Given the description of an element on the screen output the (x, y) to click on. 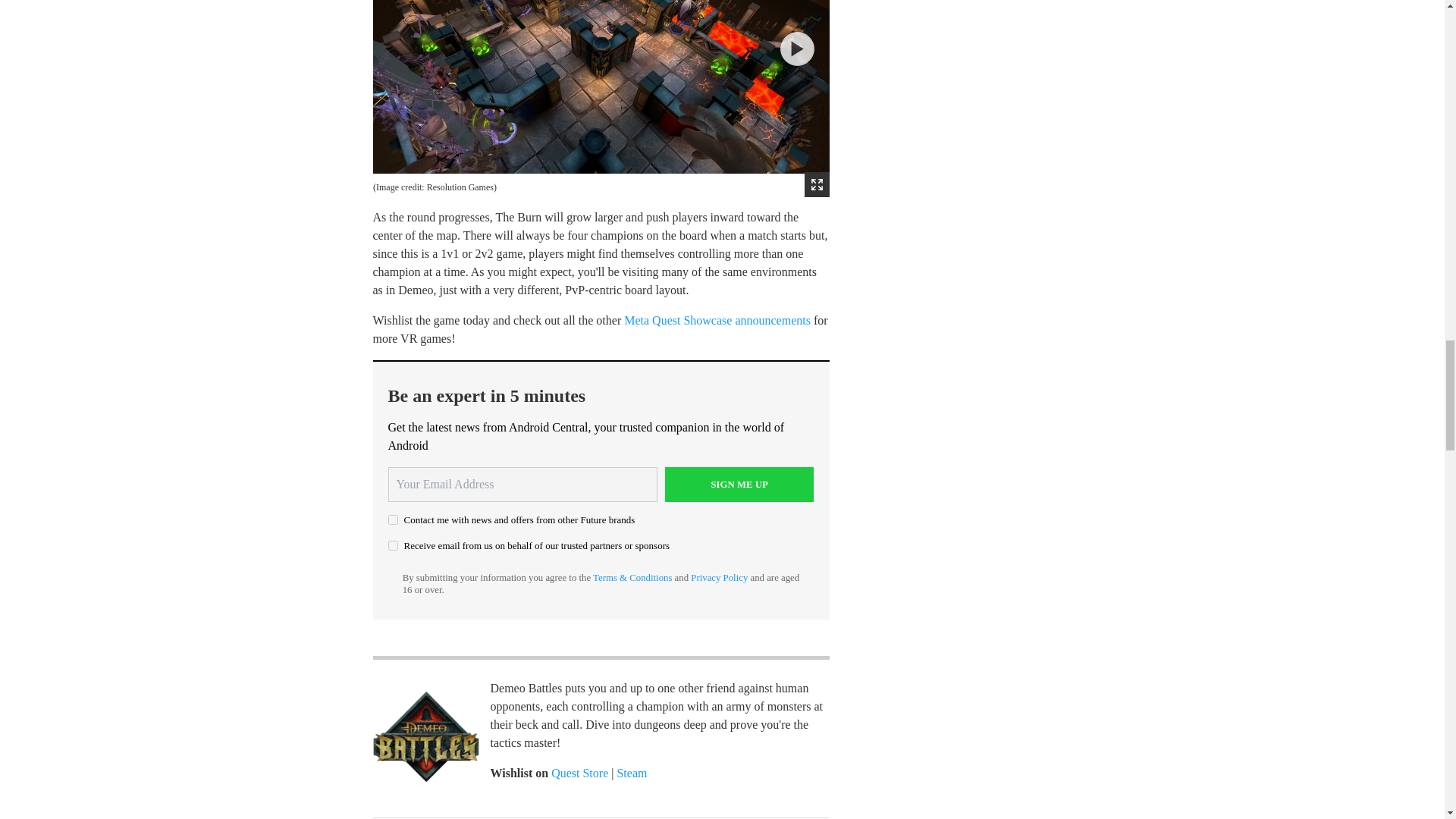
Image (425, 736)
Sign me up (739, 484)
on (392, 519)
on (392, 545)
